Given the description of an element on the screen output the (x, y) to click on. 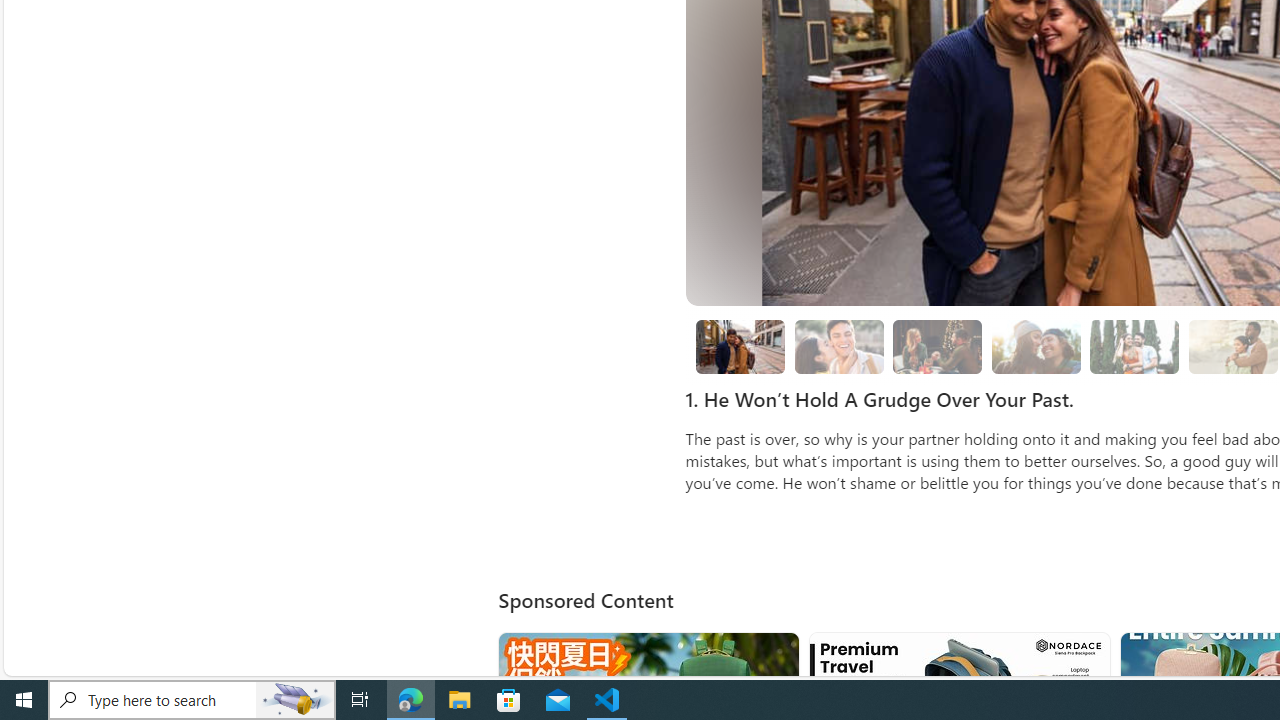
See more (1086, 656)
boyfriend holding girlfriend close sunshine (1232, 346)
Class: progress (1134, 343)
